Given the description of an element on the screen output the (x, y) to click on. 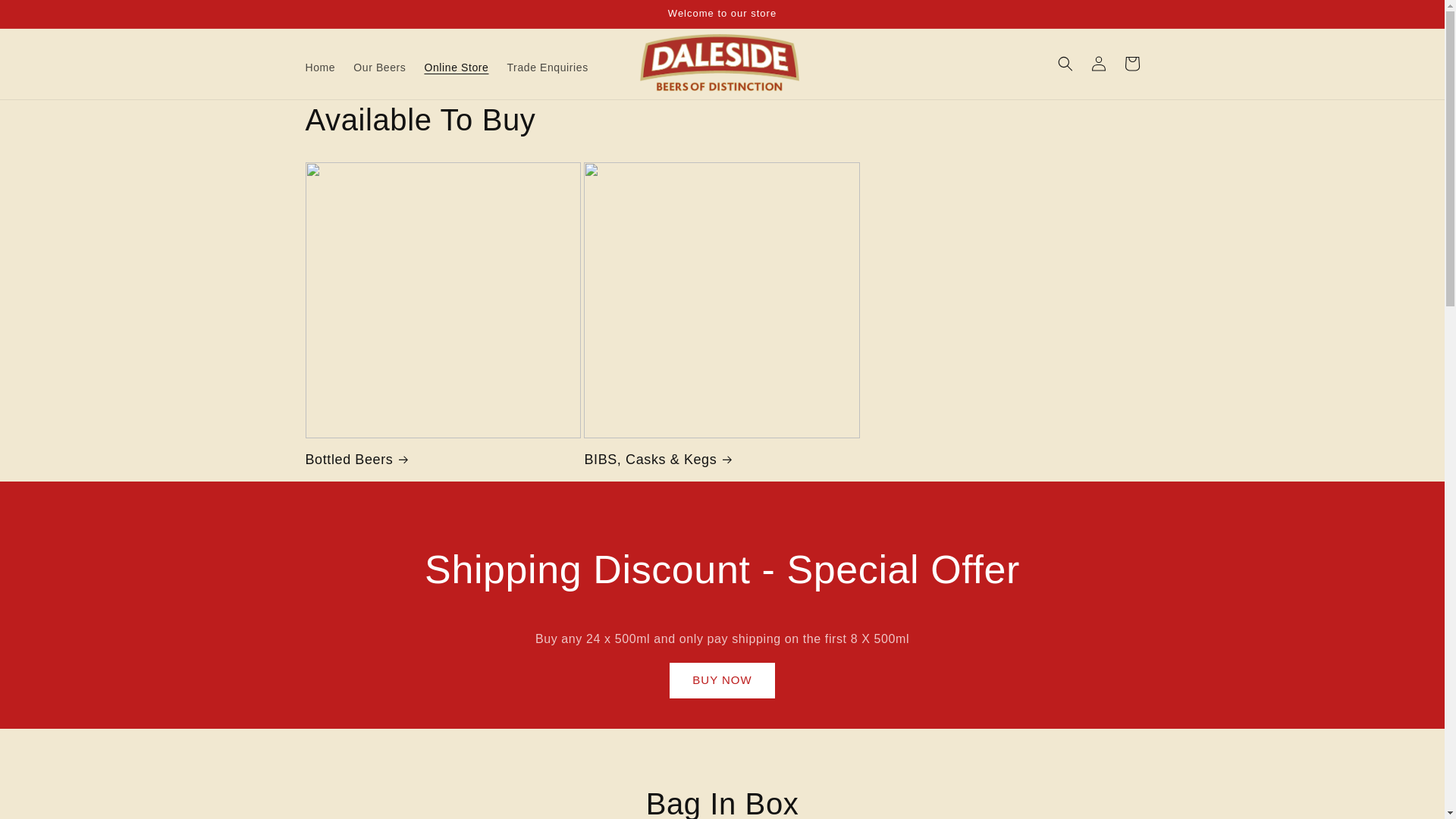
Cart (1131, 63)
Skip to content (45, 17)
Log in (1098, 63)
Trade Enquiries (546, 67)
BUY NOW (721, 680)
Online Store (455, 67)
Our Beers (378, 67)
Bottled Beers (442, 459)
Home (319, 67)
